Given the description of an element on the screen output the (x, y) to click on. 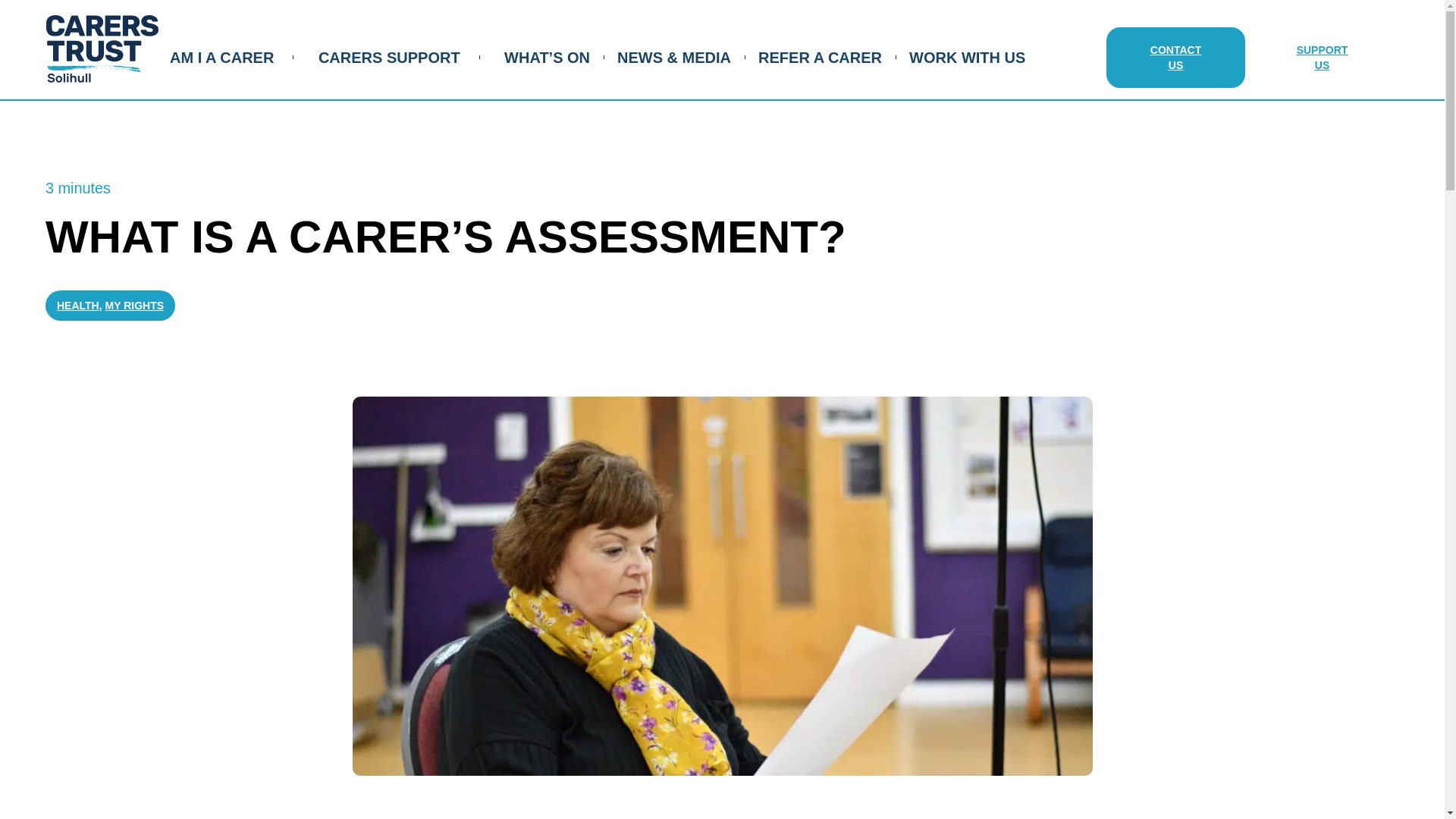
CARERS SUPPORT (389, 57)
AM I A CARER (221, 57)
CONTACT US (1175, 57)
REFER A CARER (820, 57)
WORK WITH US (966, 57)
SUPPORT US (1321, 57)
